Given the description of an element on the screen output the (x, y) to click on. 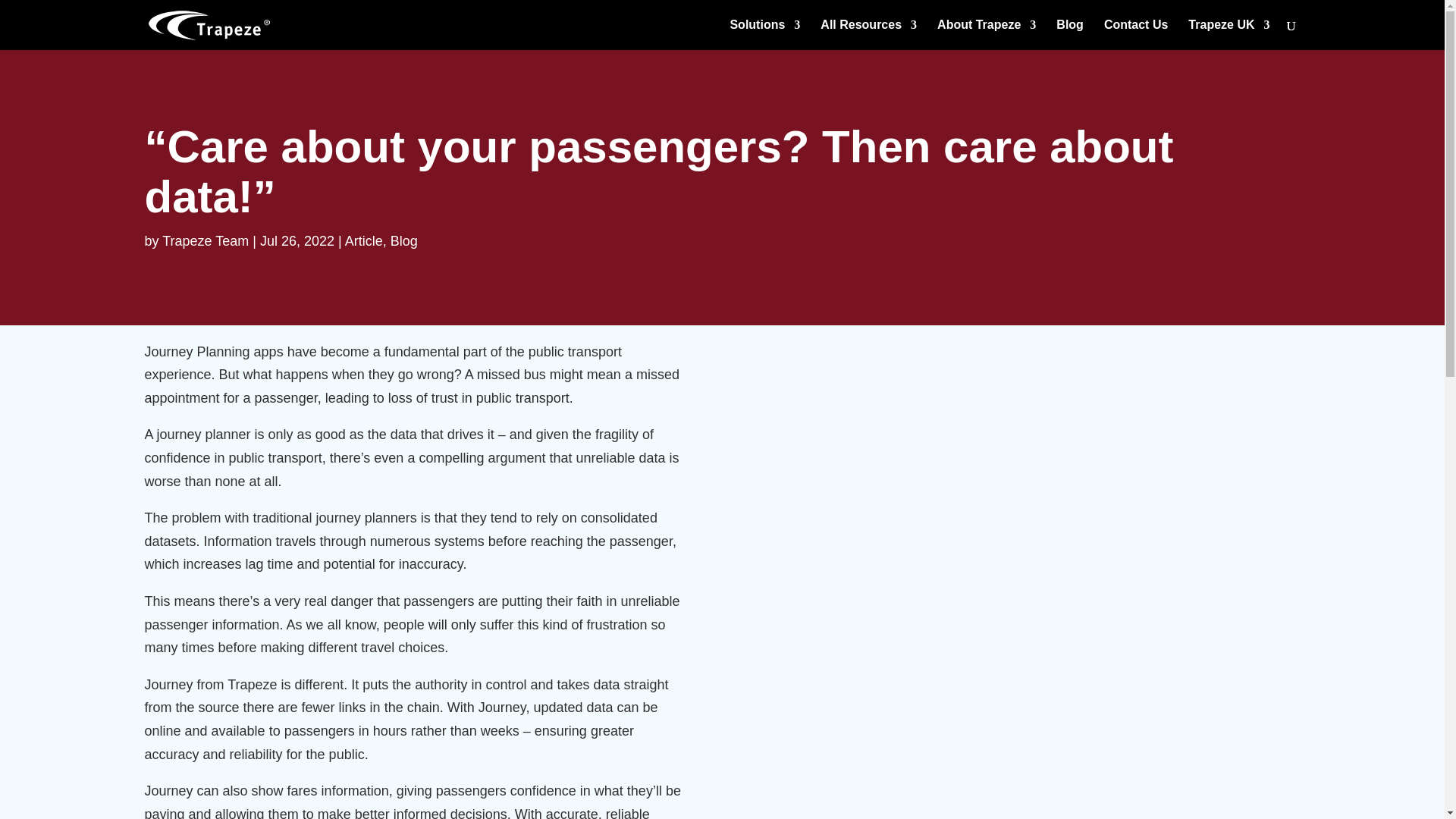
Trapeze Team (204, 240)
Posts by Trapeze Team (204, 240)
Contact Us (1135, 34)
Blog (1070, 34)
Solutions (764, 34)
About Trapeze (986, 34)
Trapeze UK (1228, 34)
All Resources (869, 34)
